Given the description of an element on the screen output the (x, y) to click on. 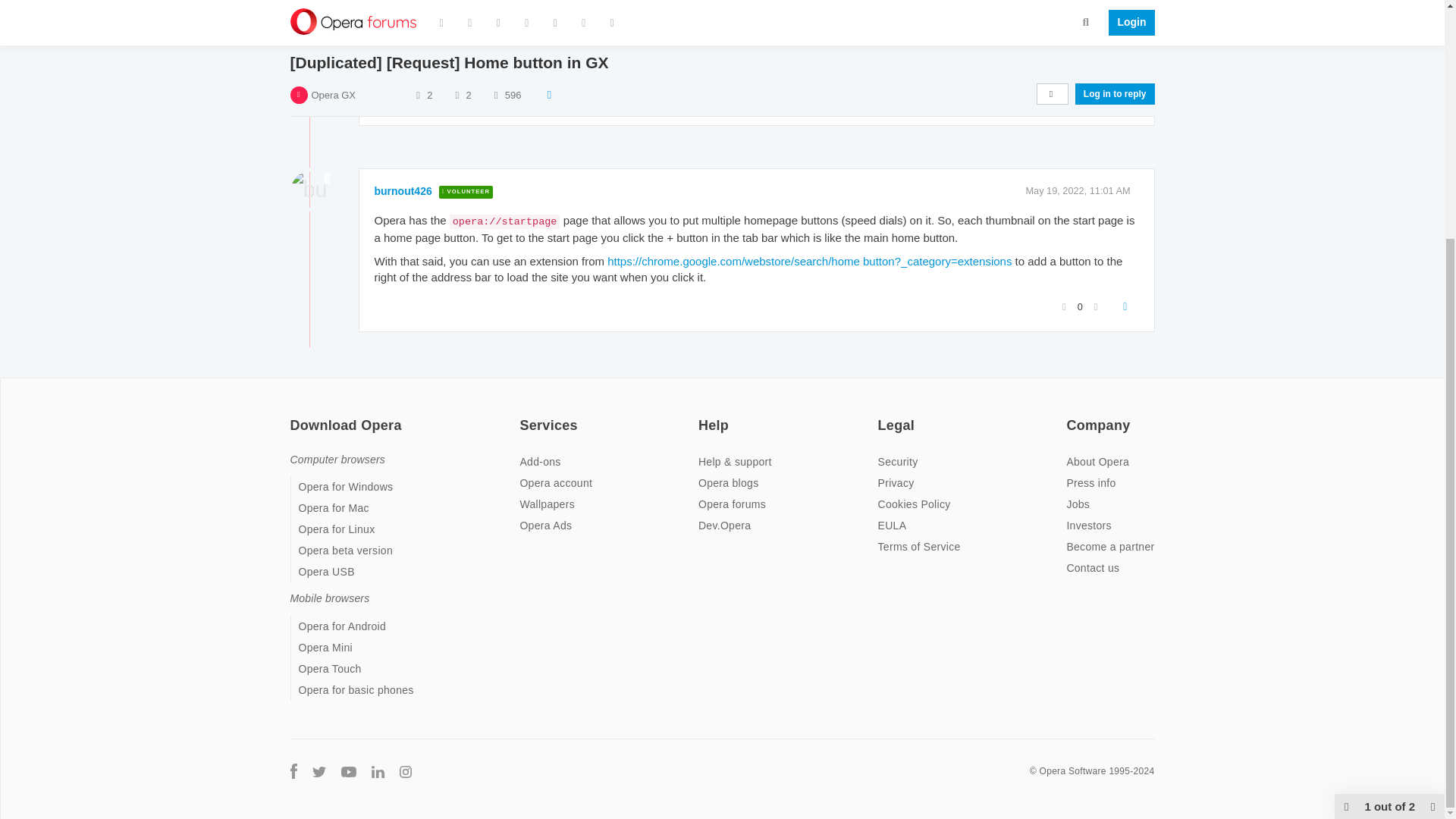
on (702, 415)
SuneethDaniel (411, 3)
on (523, 415)
on (1070, 415)
on (293, 415)
on (881, 415)
May 14, 2022, 2:28 PM (1080, 3)
